Given the description of an element on the screen output the (x, y) to click on. 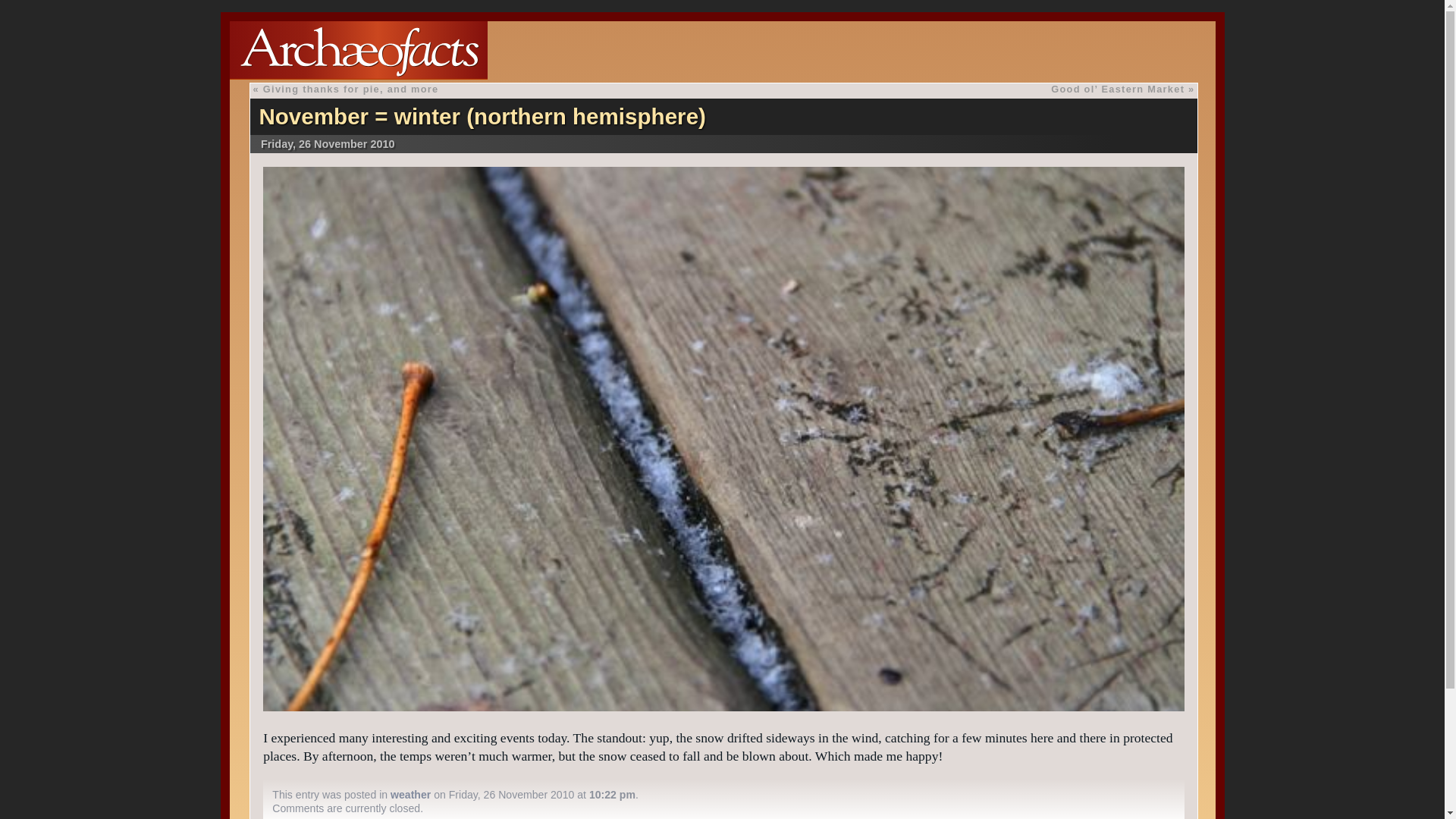
earlier in time... (346, 89)
Giving thanks for pie, and more (351, 89)
later in time... (1122, 89)
weather (410, 794)
